Given the description of an element on the screen output the (x, y) to click on. 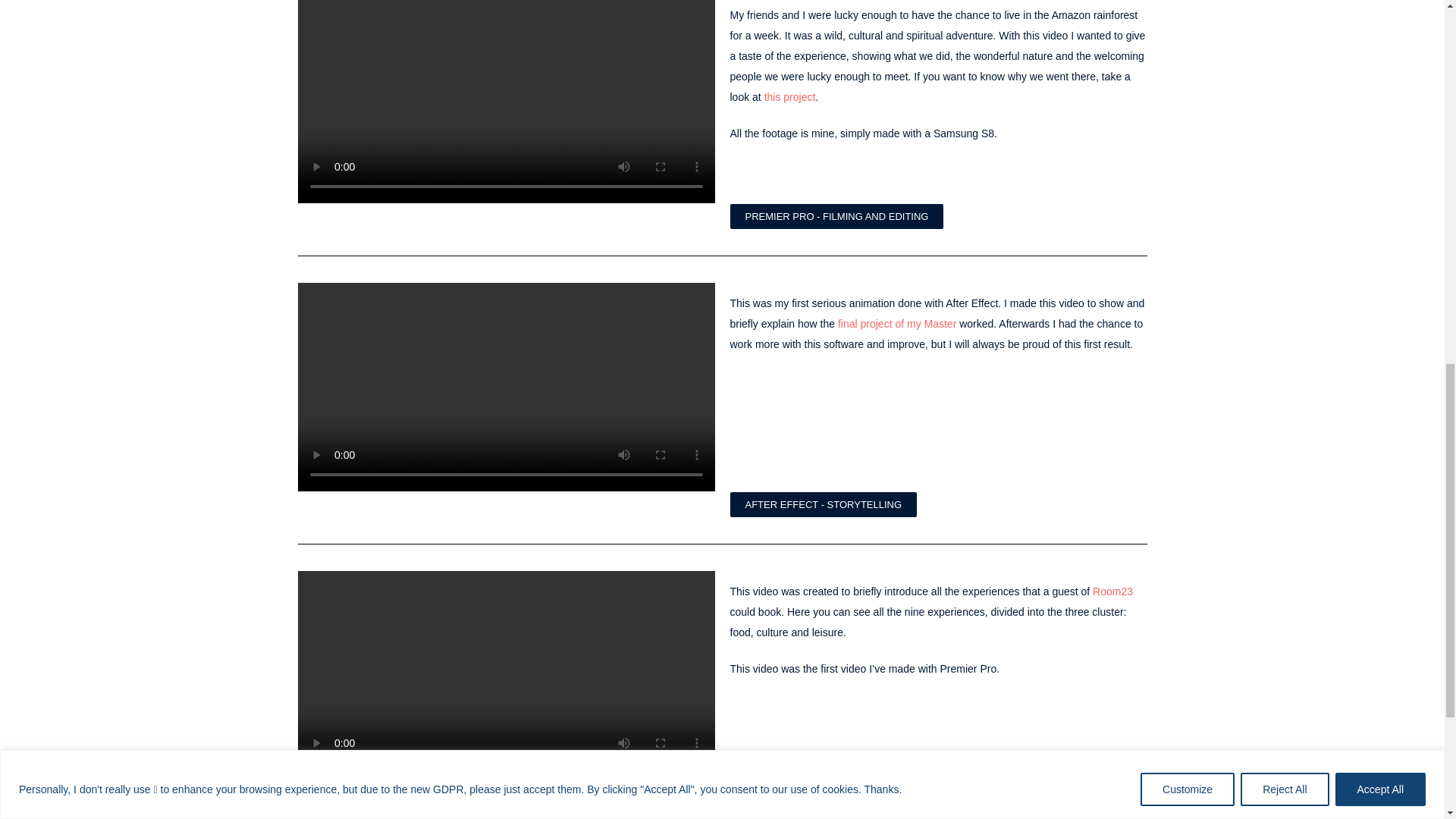
PREMIER PRO - EDITIING (804, 793)
AFTER EFFECT - STORYTELLING (823, 504)
Room23 (1112, 591)
PREMIER PRO - FILMING AND EDITING (836, 216)
this project (789, 96)
final project of my Master (897, 323)
